Given the description of an element on the screen output the (x, y) to click on. 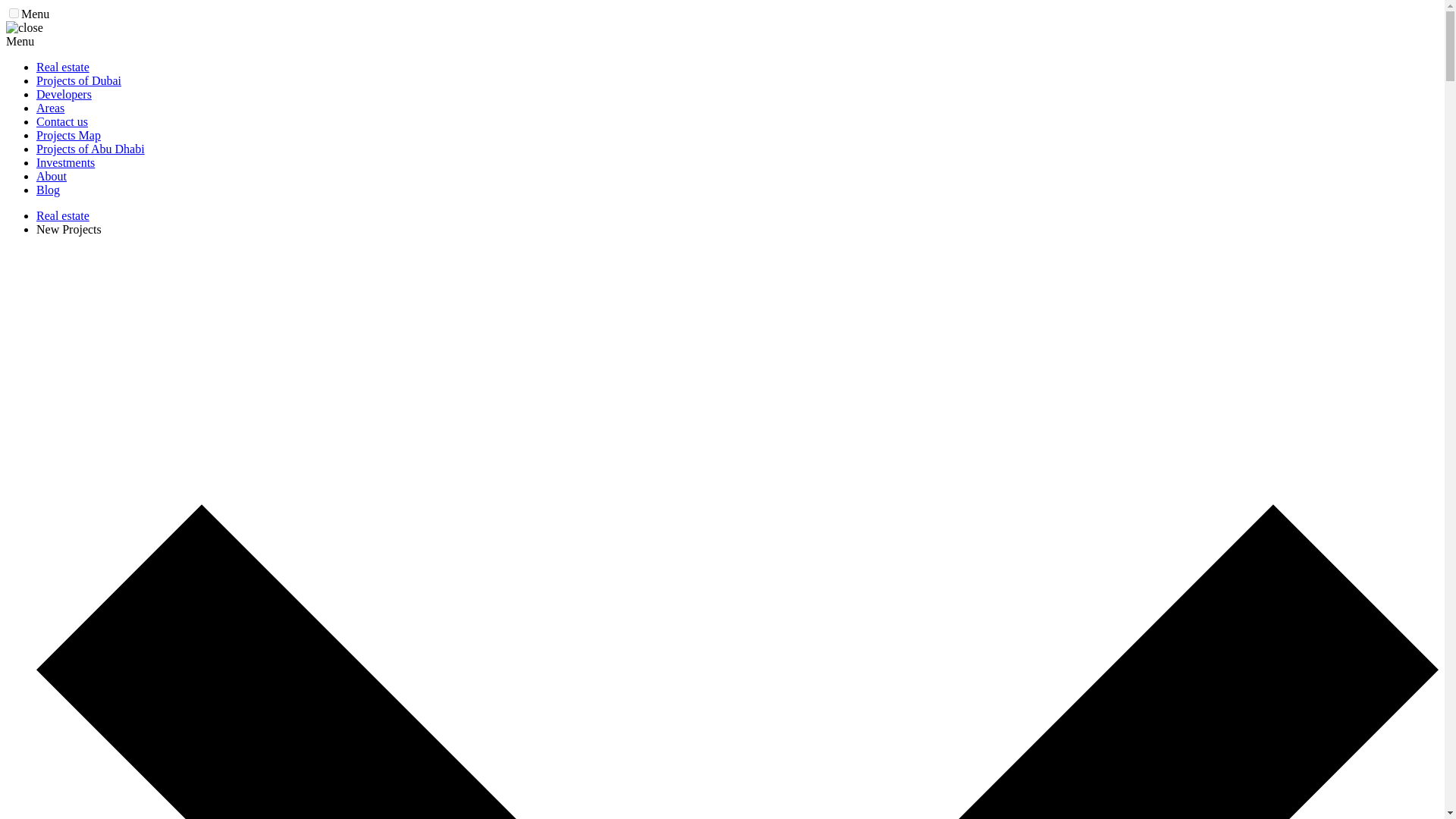
Blog (47, 189)
Real estate (62, 215)
on (13, 13)
Developers (63, 93)
Areas (50, 107)
Investments (65, 162)
Projects of Dubai (78, 80)
Real estate (62, 66)
Projects of Abu Dhabi (90, 148)
Contact us (61, 121)
About (51, 175)
Projects Map (68, 134)
